Given the description of an element on the screen output the (x, y) to click on. 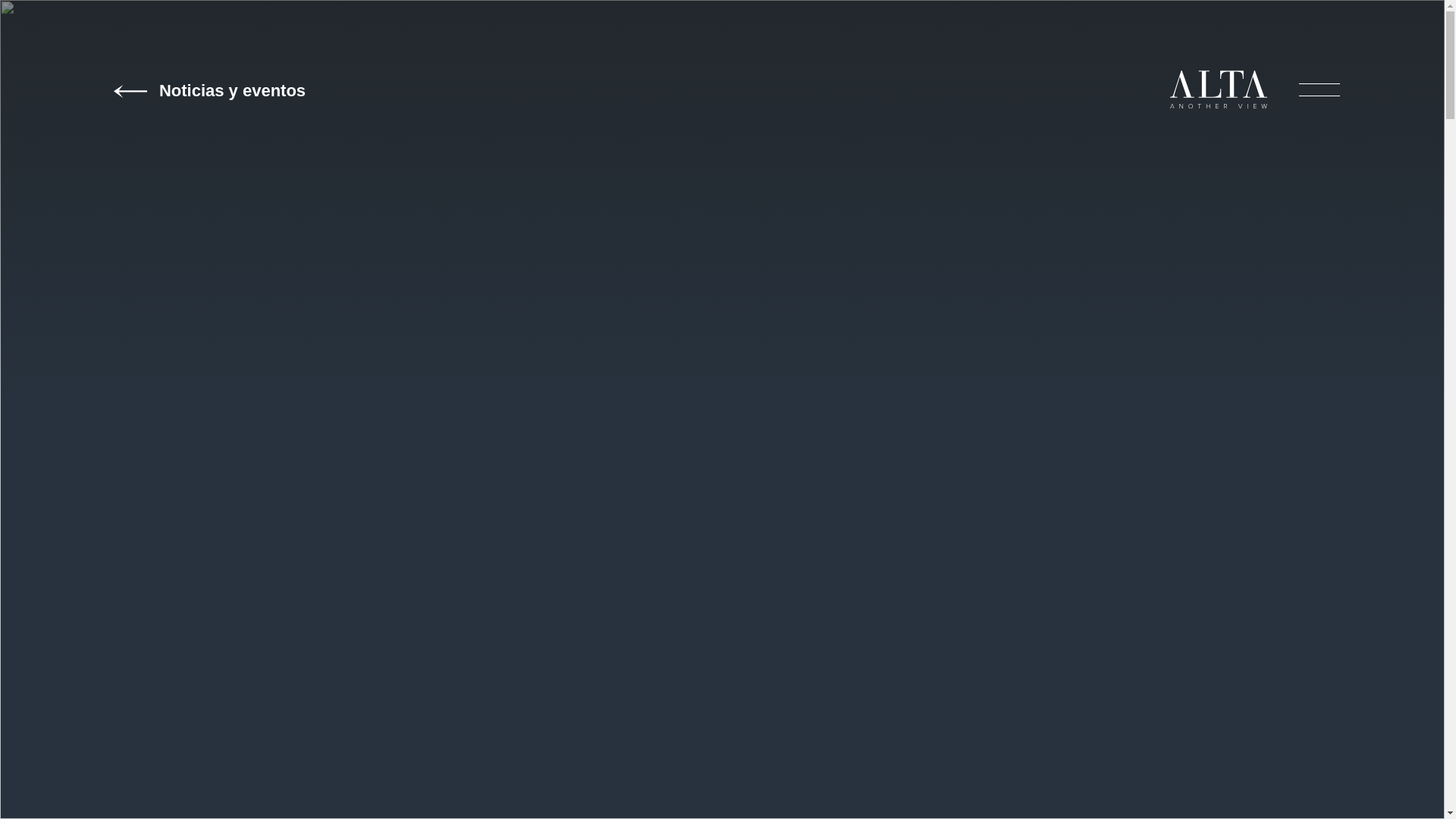
Noticias y eventos (167, 90)
